Given the description of an element on the screen output the (x, y) to click on. 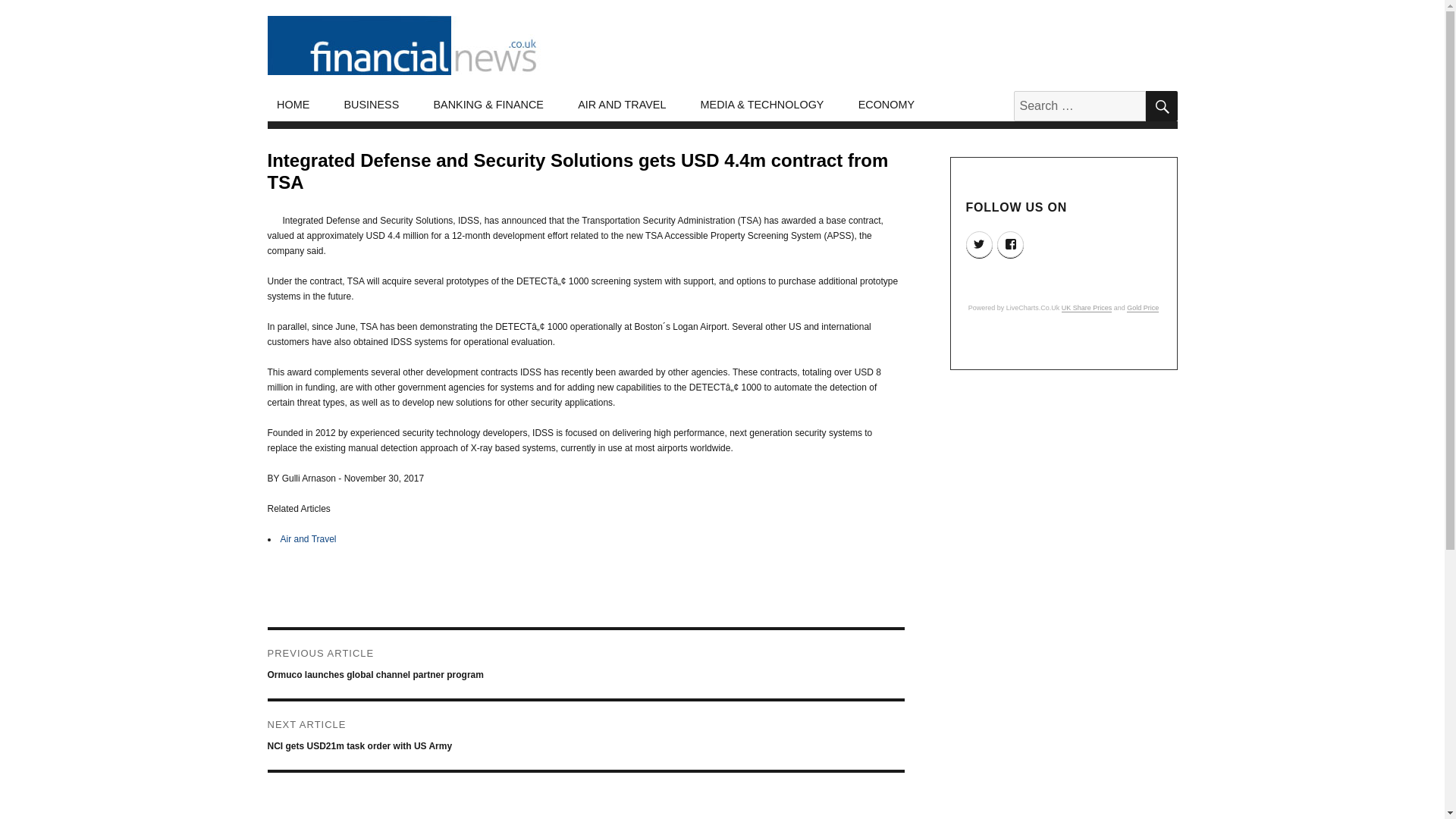
Air and Travel (308, 538)
FACEBOOK (1010, 243)
AIR AND TRAVEL (622, 104)
UK Share Prices (1086, 307)
ECONOMY (886, 104)
BUSINESS (371, 104)
TWITTER (979, 243)
SEARCH (1160, 105)
